Given the description of an element on the screen output the (x, y) to click on. 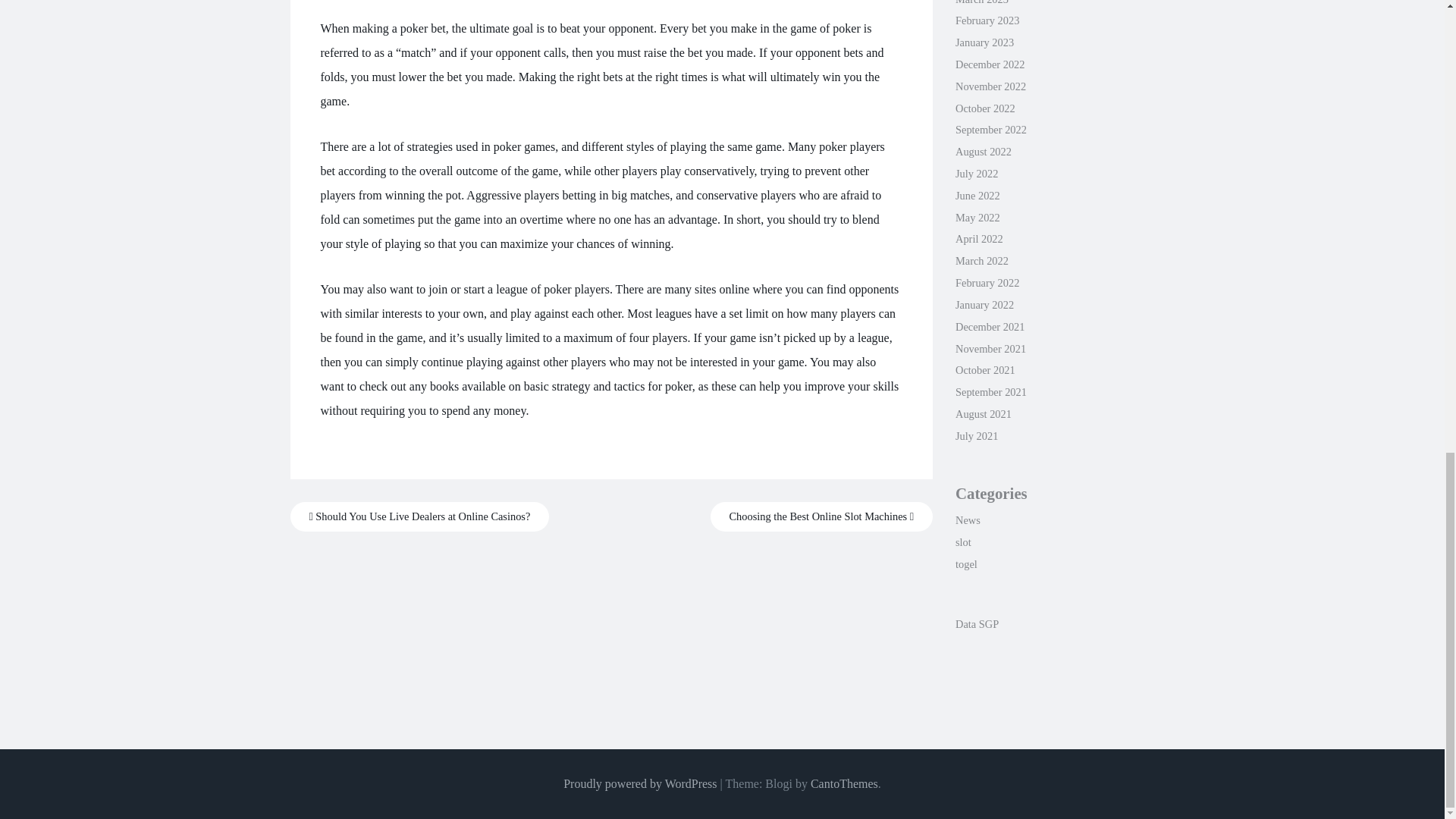
September 2022 (990, 129)
January 2023 (984, 42)
March 2023 (982, 2)
August 2022 (983, 151)
October 2022 (984, 108)
Should You Use Live Dealers at Online Casinos? (418, 516)
December 2022 (990, 64)
Choosing the Best Online Slot Machines (821, 516)
November 2022 (990, 86)
February 2023 (987, 20)
July 2022 (976, 173)
